Given the description of an element on the screen output the (x, y) to click on. 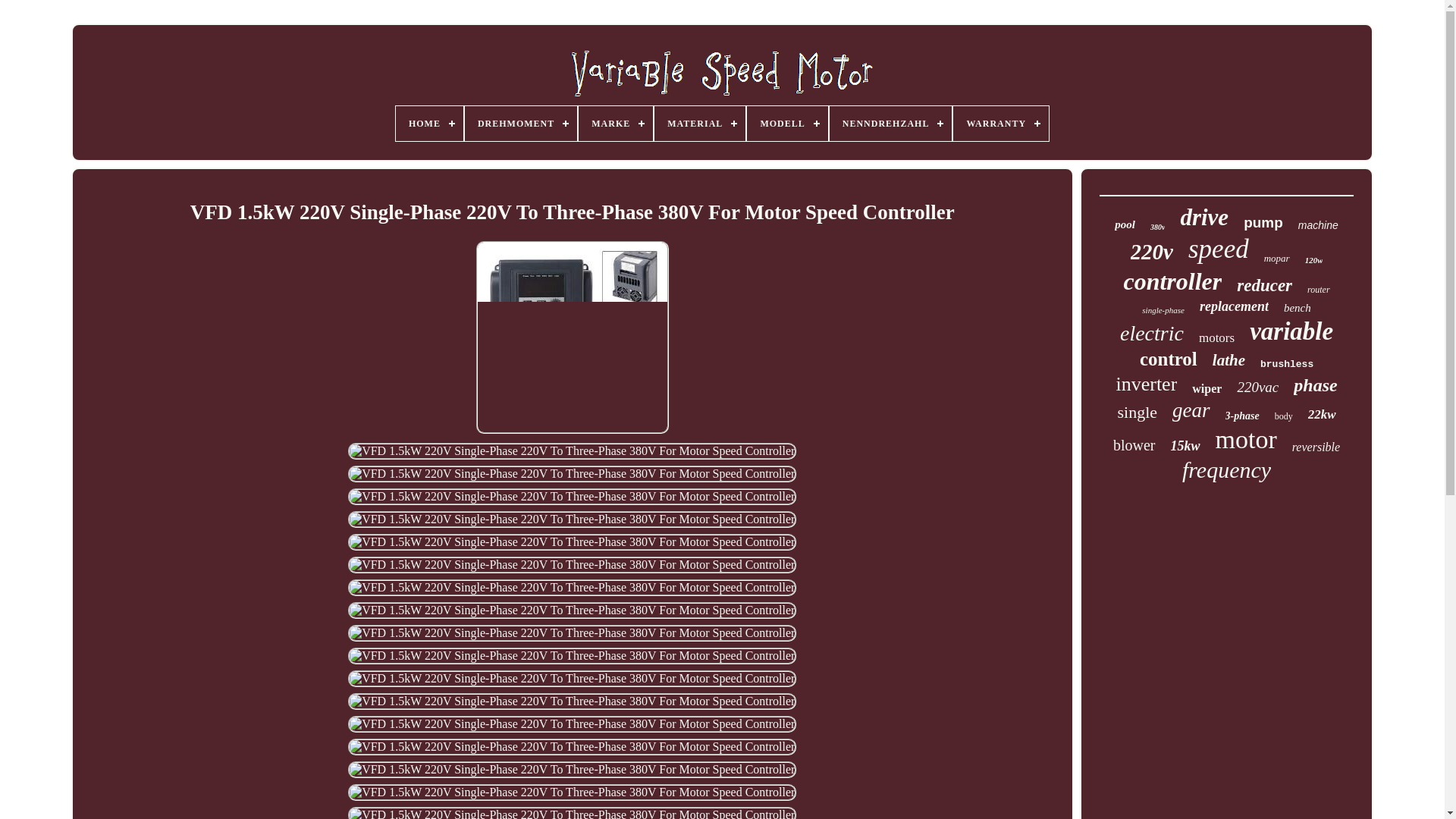
MODELL (786, 123)
MATERIAL (699, 123)
DREHMOMENT (520, 123)
